Given the description of an element on the screen output the (x, y) to click on. 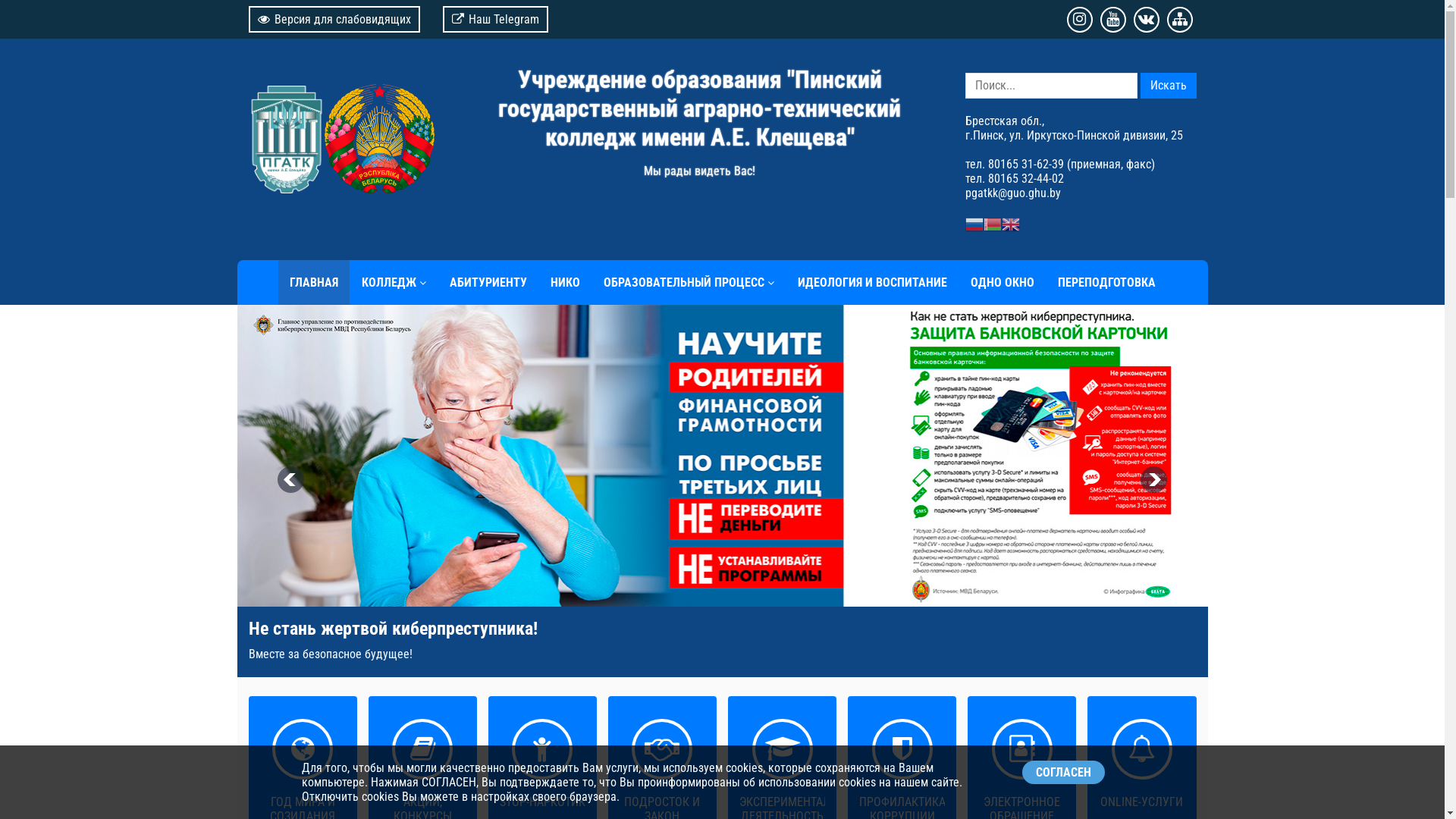
Russian Element type: hover (973, 223)
  Element type: text (341, 130)
Belarusian Element type: hover (991, 223)
pgatkk@guo.ghu.by Element type: text (1012, 192)
English Element type: hover (1010, 223)
